Given the description of an element on the screen output the (x, y) to click on. 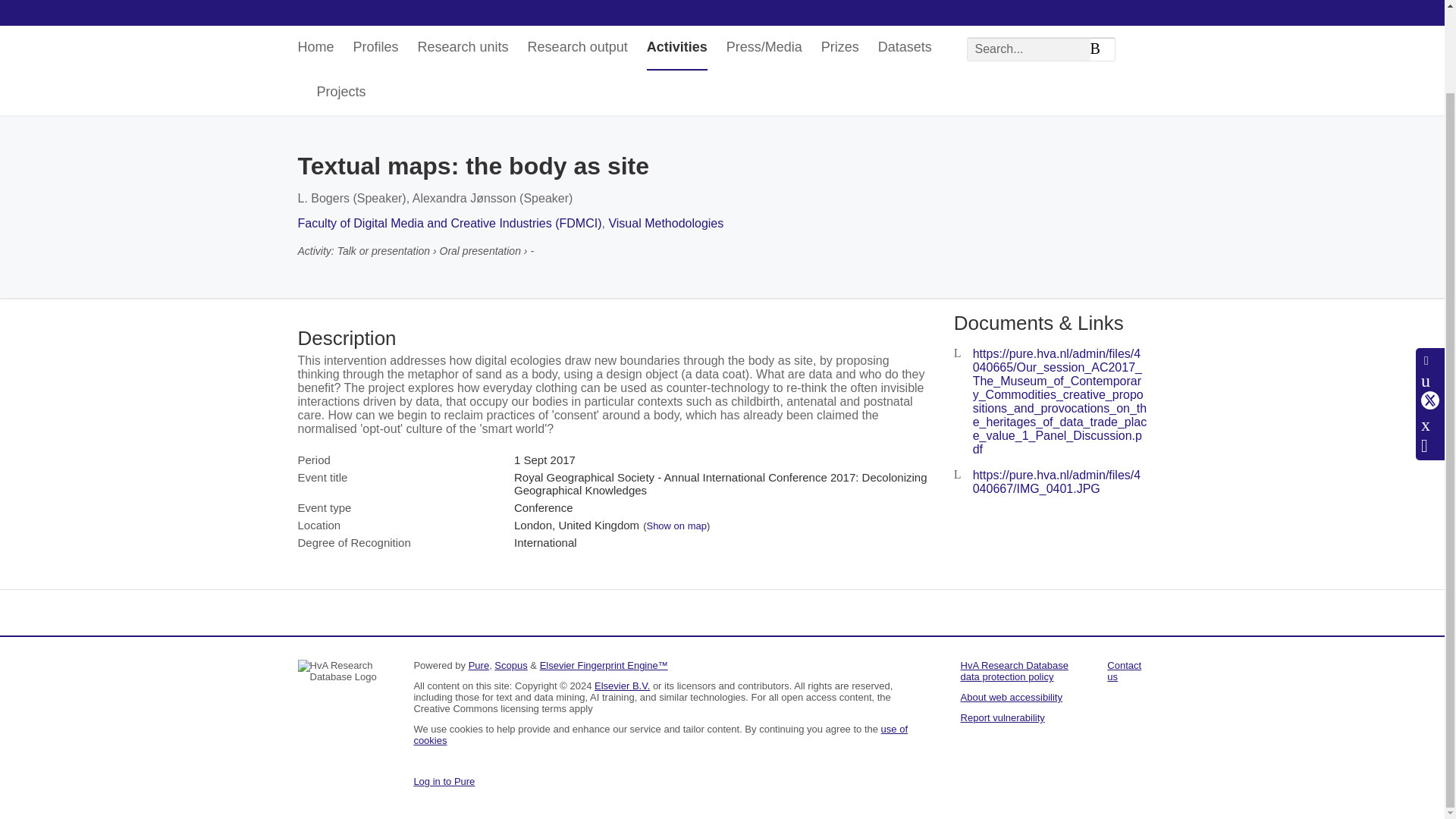
Log in to Pure (443, 781)
Pure (478, 665)
About web accessibility (1011, 696)
use of cookies (660, 734)
Research output (577, 47)
Activities (676, 47)
Profiles (375, 47)
Elsevier B.V. (621, 685)
Research units (462, 47)
Visual Methodologies (665, 223)
